Given the description of an element on the screen output the (x, y) to click on. 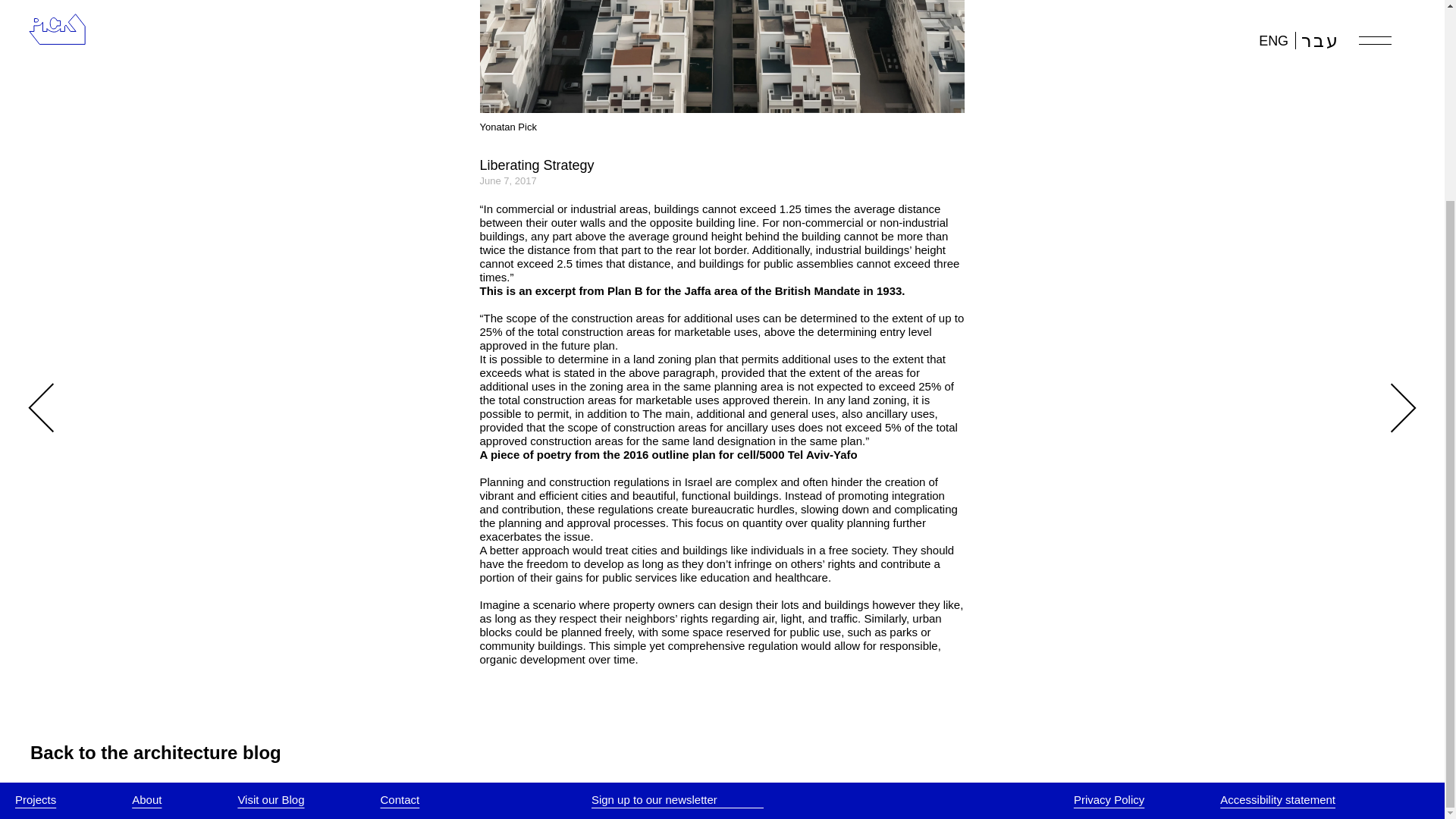
Privacy Policy (1109, 799)
Projects (35, 799)
Visit our Blog (270, 799)
Accessibility statement (1277, 799)
Contact (400, 799)
About (146, 799)
